Given the description of an element on the screen output the (x, y) to click on. 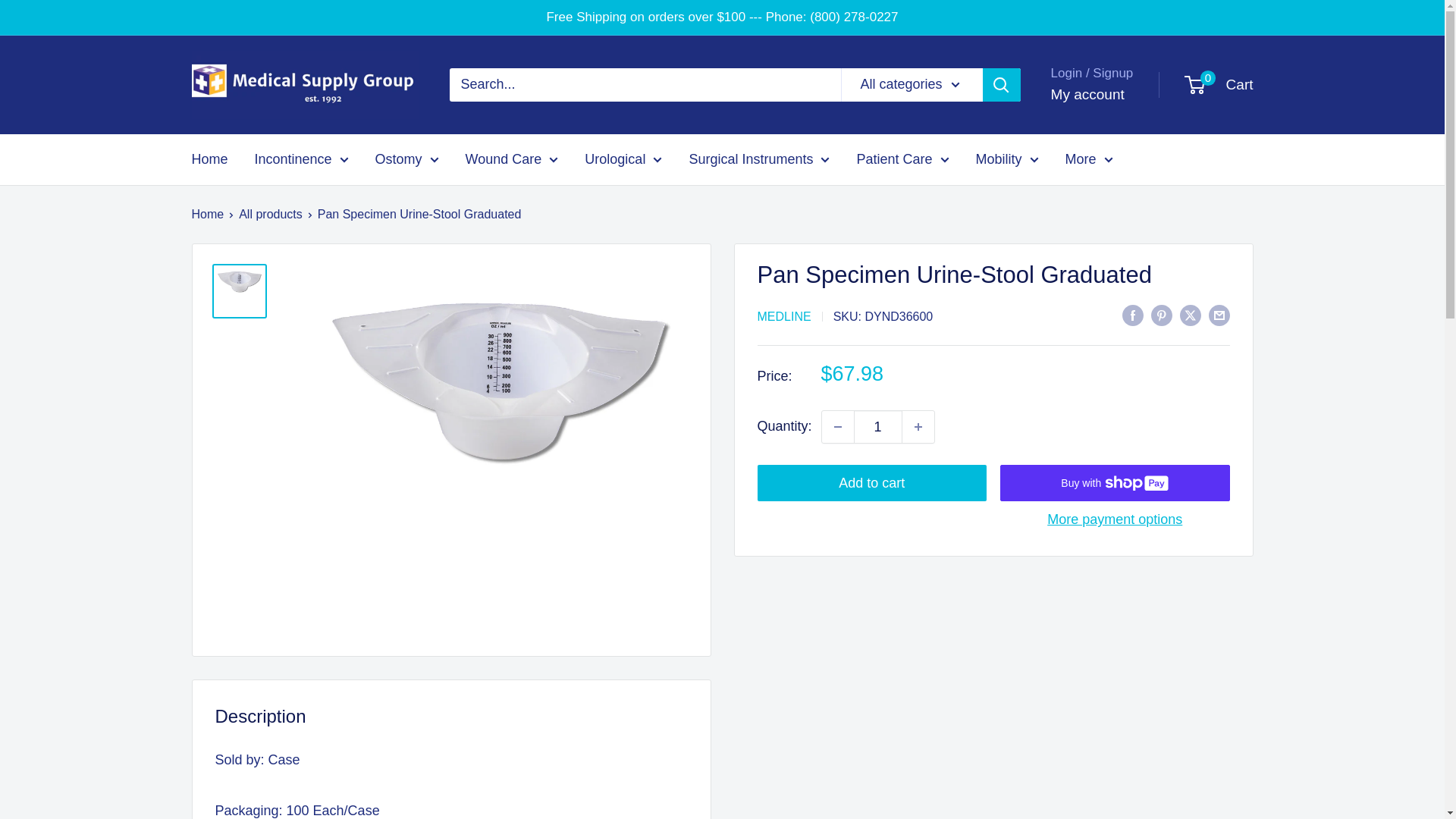
Decrease quantity by 1 (837, 427)
Increase quantity by 1 (918, 427)
1 (877, 427)
